Given the description of an element on the screen output the (x, y) to click on. 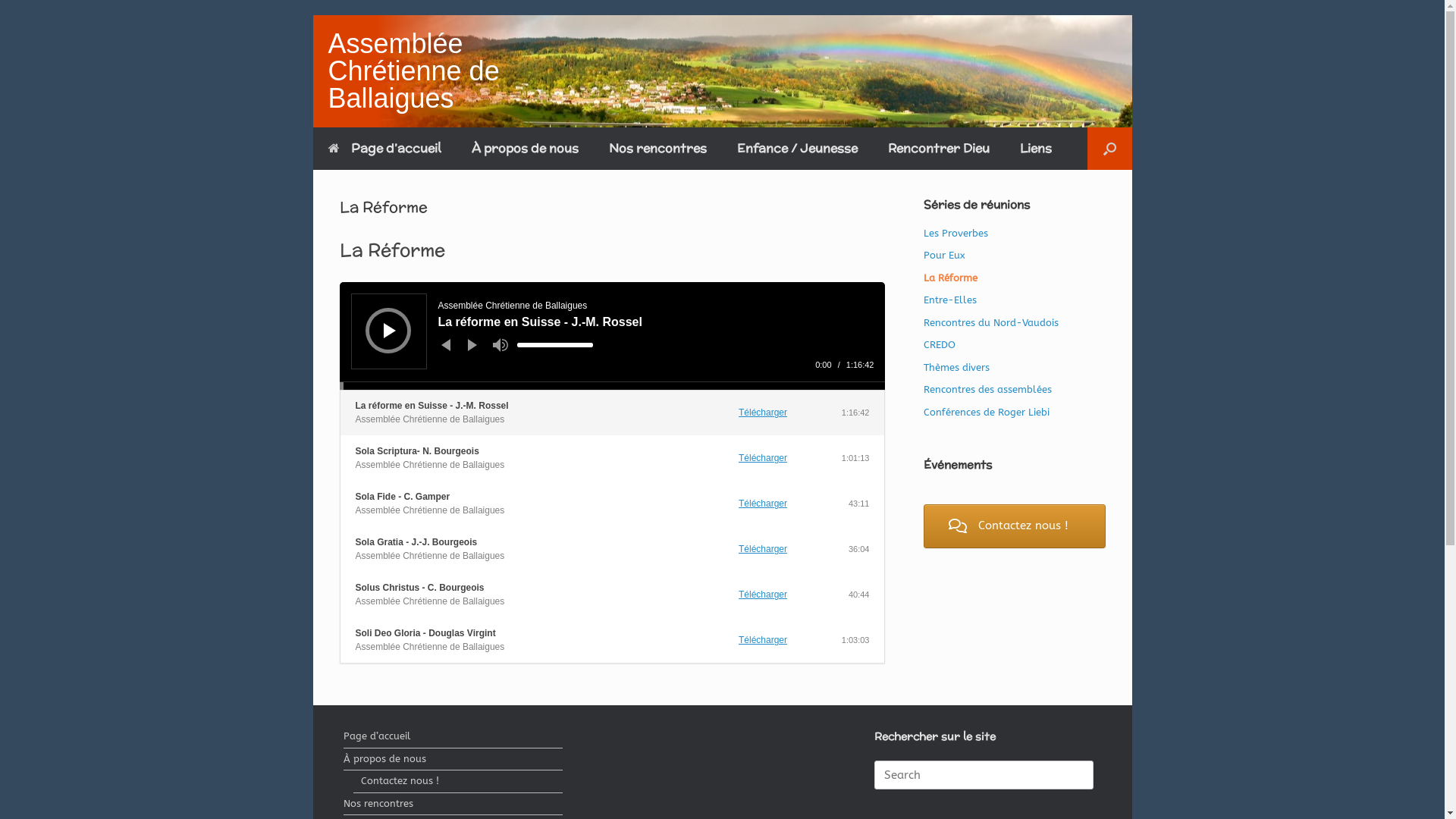
Rencontres du Nord-Vaudois Element type: text (990, 322)
Muet Element type: hover (500, 344)
Piste suivante Element type: hover (471, 344)
CREDO Element type: text (939, 344)
Contactez nous ! Element type: text (1014, 525)
Lecture Element type: hover (389, 330)
Nos rencontres Element type: text (657, 148)
Entre-Elles Element type: text (949, 299)
Pour Eux Element type: text (944, 254)
Contactez nous ! Element type: text (458, 782)
Enfance / Jeunesse Element type: text (796, 148)
Liens Element type: text (1035, 148)
Les Proverbes Element type: text (955, 232)
Skip to content Element type: text (312, 14)
Nos rencontres Element type: text (452, 805)
Rencontrer Dieu Element type: text (938, 148)
